Given the description of an element on the screen output the (x, y) to click on. 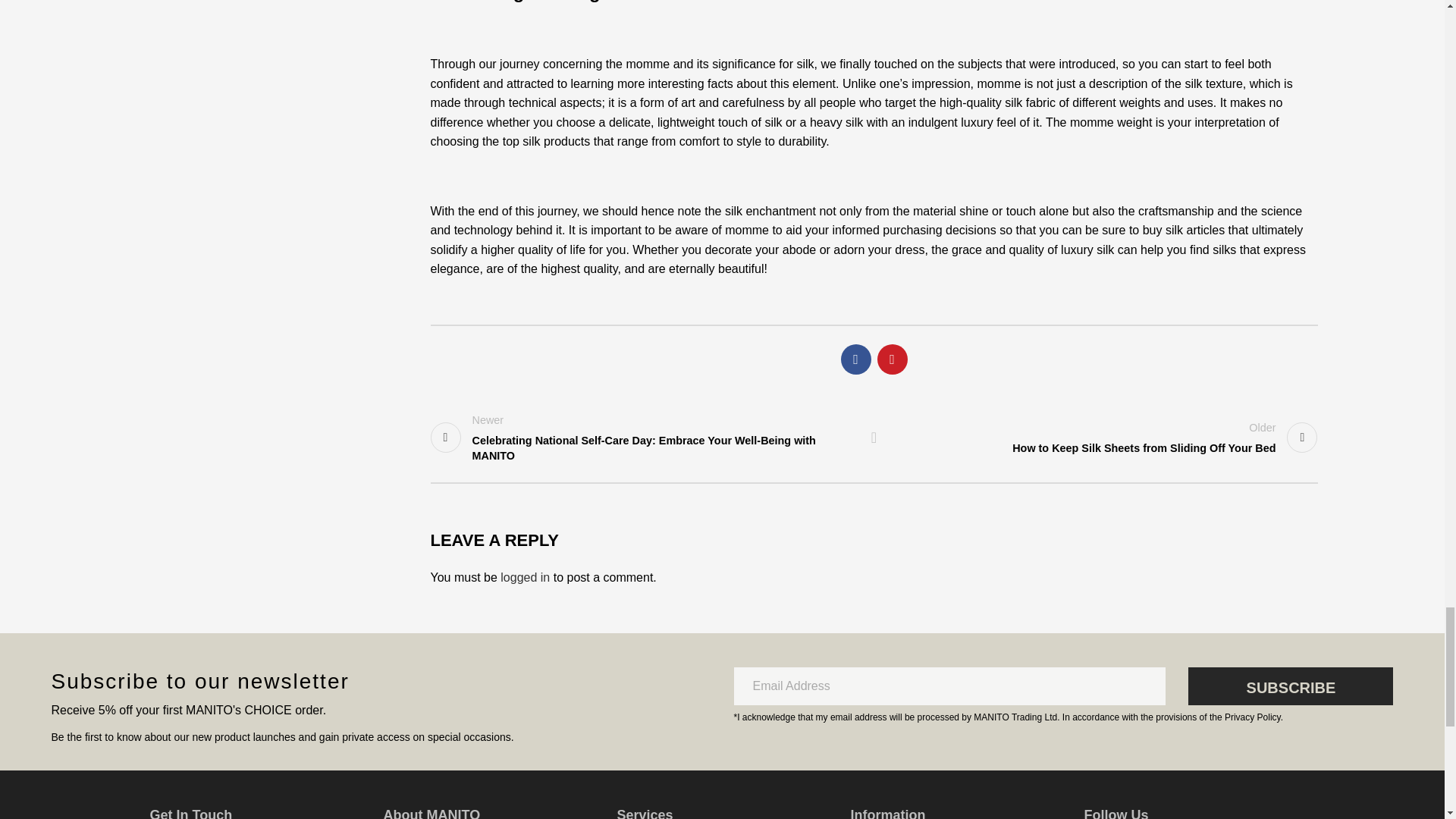
Back to list (873, 437)
SUBSCRIBE (1290, 686)
